Given the description of an element on the screen output the (x, y) to click on. 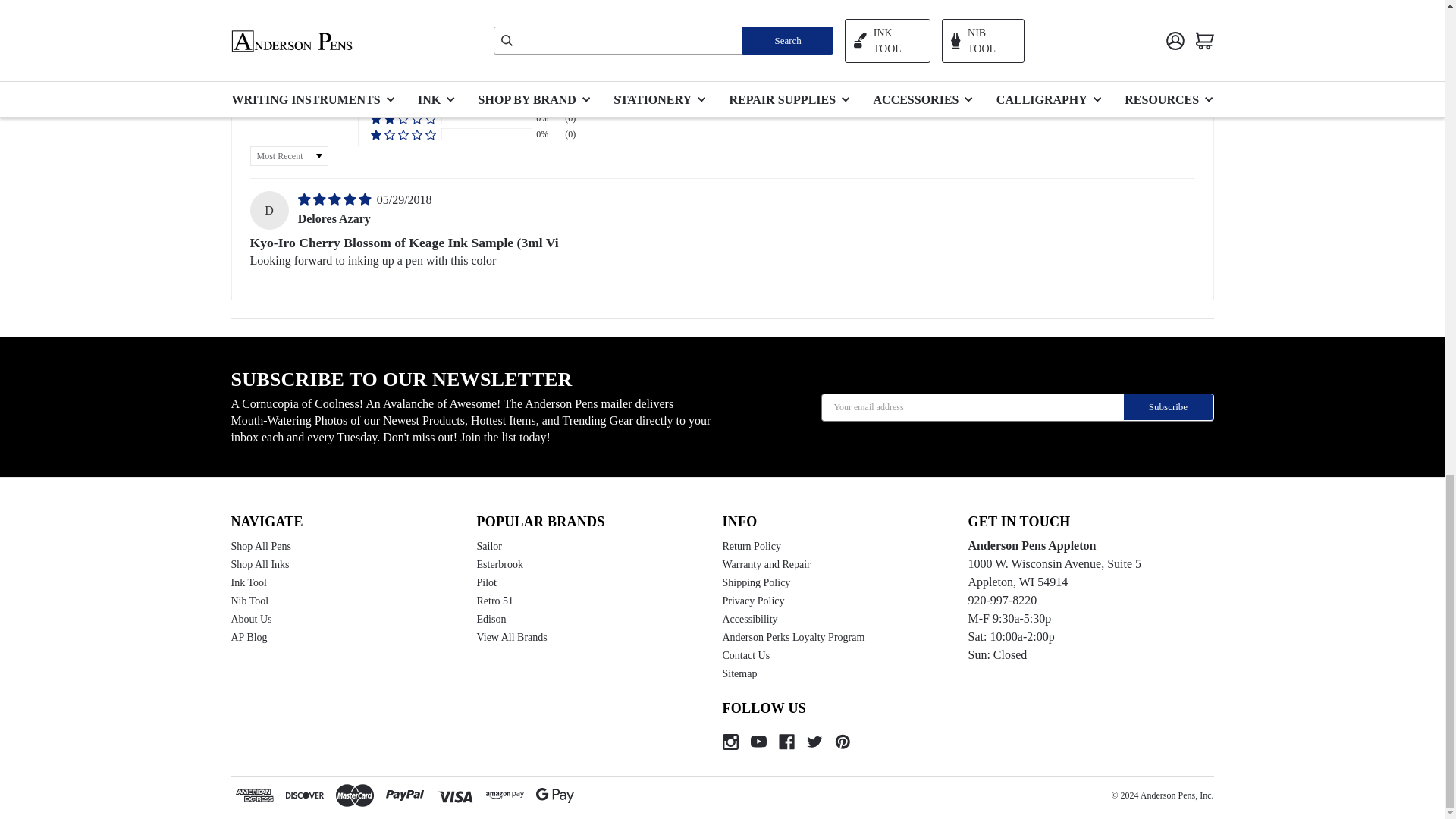
Subscribe (1167, 406)
Instagram (730, 741)
Youtube (759, 741)
Facebook (785, 741)
Pinterest (842, 741)
Twitter (814, 741)
